Given the description of an element on the screen output the (x, y) to click on. 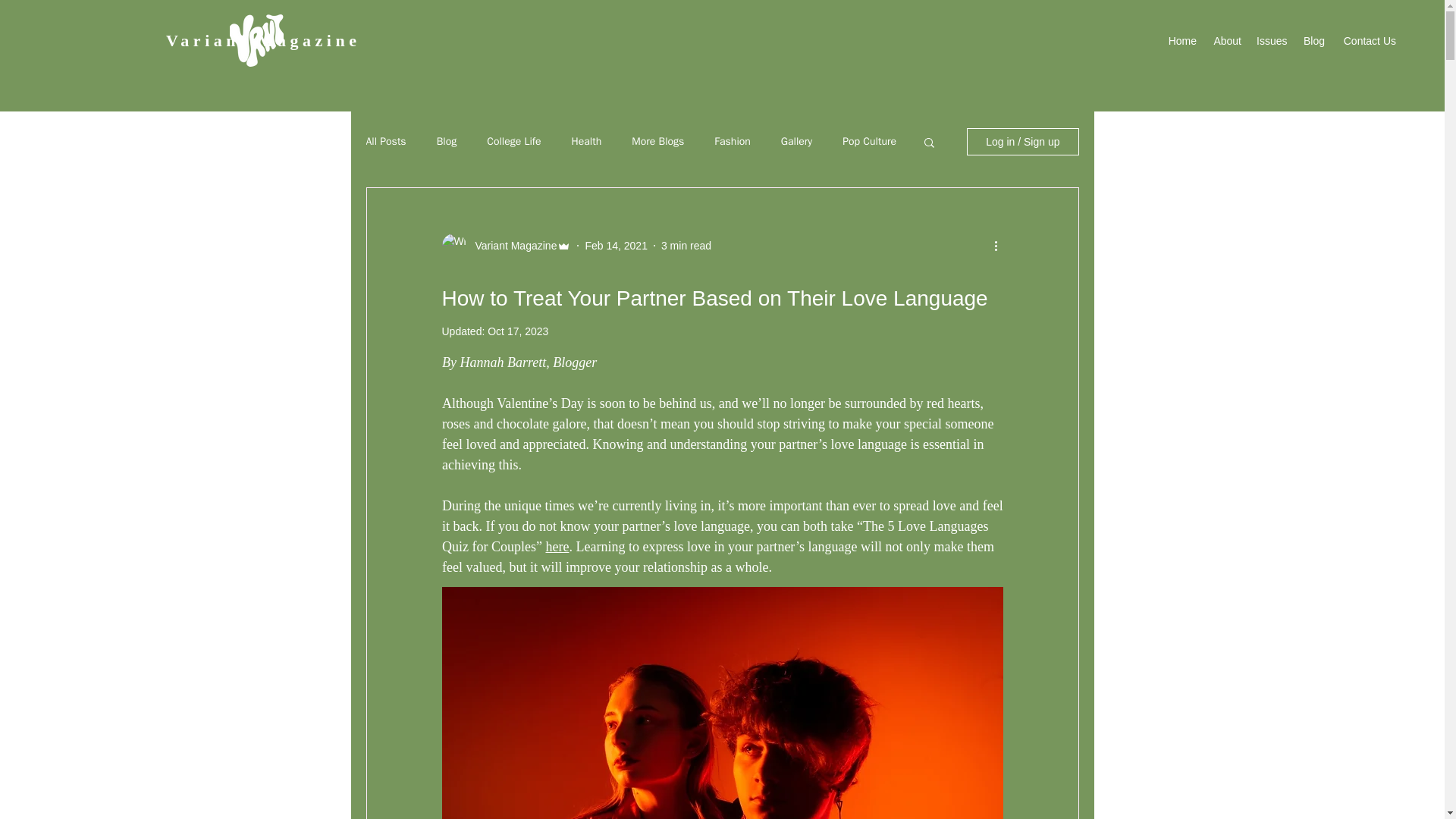
Blog (1313, 40)
Contact Us (1367, 40)
Home (1181, 40)
About (1226, 40)
Gallery (796, 141)
3 min read (686, 245)
More Blogs (657, 141)
Issues (1271, 40)
Health (587, 141)
College Life (513, 141)
Fashion (732, 141)
Variant Magazine (510, 245)
Feb 14, 2021 (616, 245)
Blog (446, 141)
Pop Culture (869, 141)
